Given the description of an element on the screen output the (x, y) to click on. 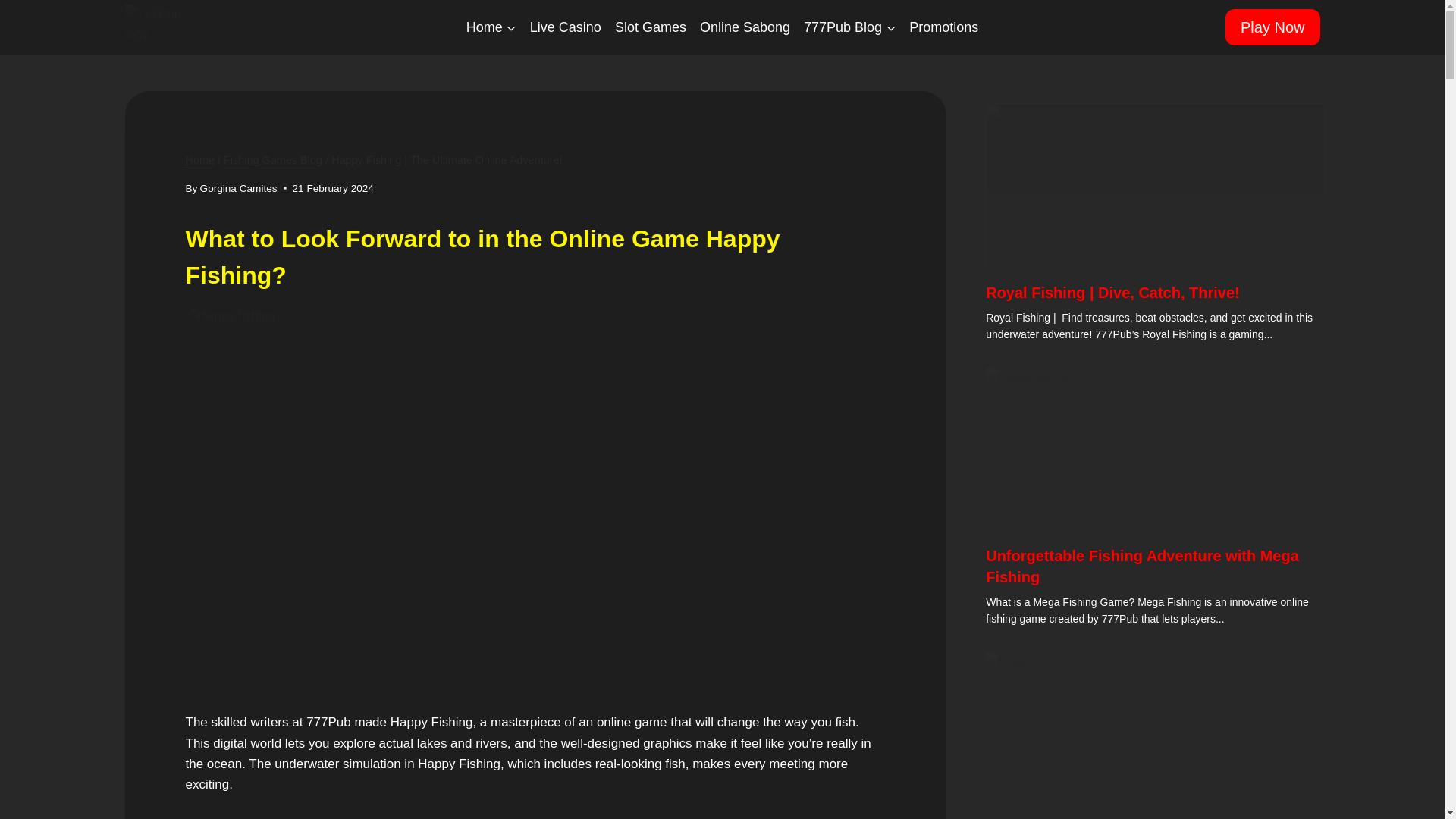
Home (199, 159)
Live Casino (565, 27)
777Pub Blog (849, 27)
Slot Games (650, 27)
Gorgina Camites (239, 188)
Fishing Games Blog (272, 159)
Play Now (1272, 27)
Promotions (943, 27)
Home (491, 27)
Online Sabong (744, 27)
